Given the description of an element on the screen output the (x, y) to click on. 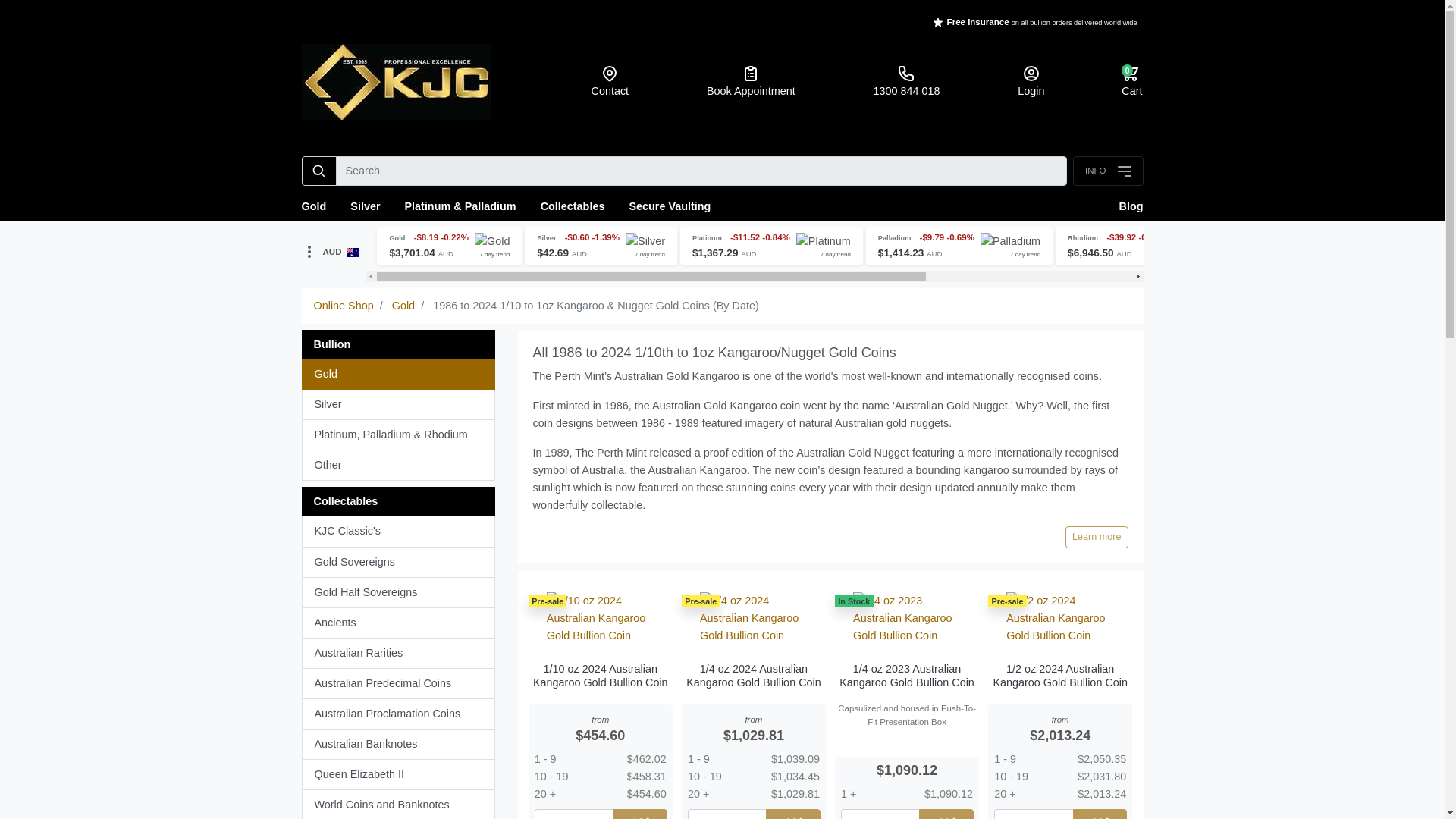
1 (573, 814)
Gold (402, 305)
Blog (1124, 206)
Collectables (572, 206)
Login (1030, 82)
Contact (610, 82)
1 (1032, 814)
Secure Vaulting (668, 206)
Free Insurance (978, 21)
Gold (320, 206)
